Given the description of an element on the screen output the (x, y) to click on. 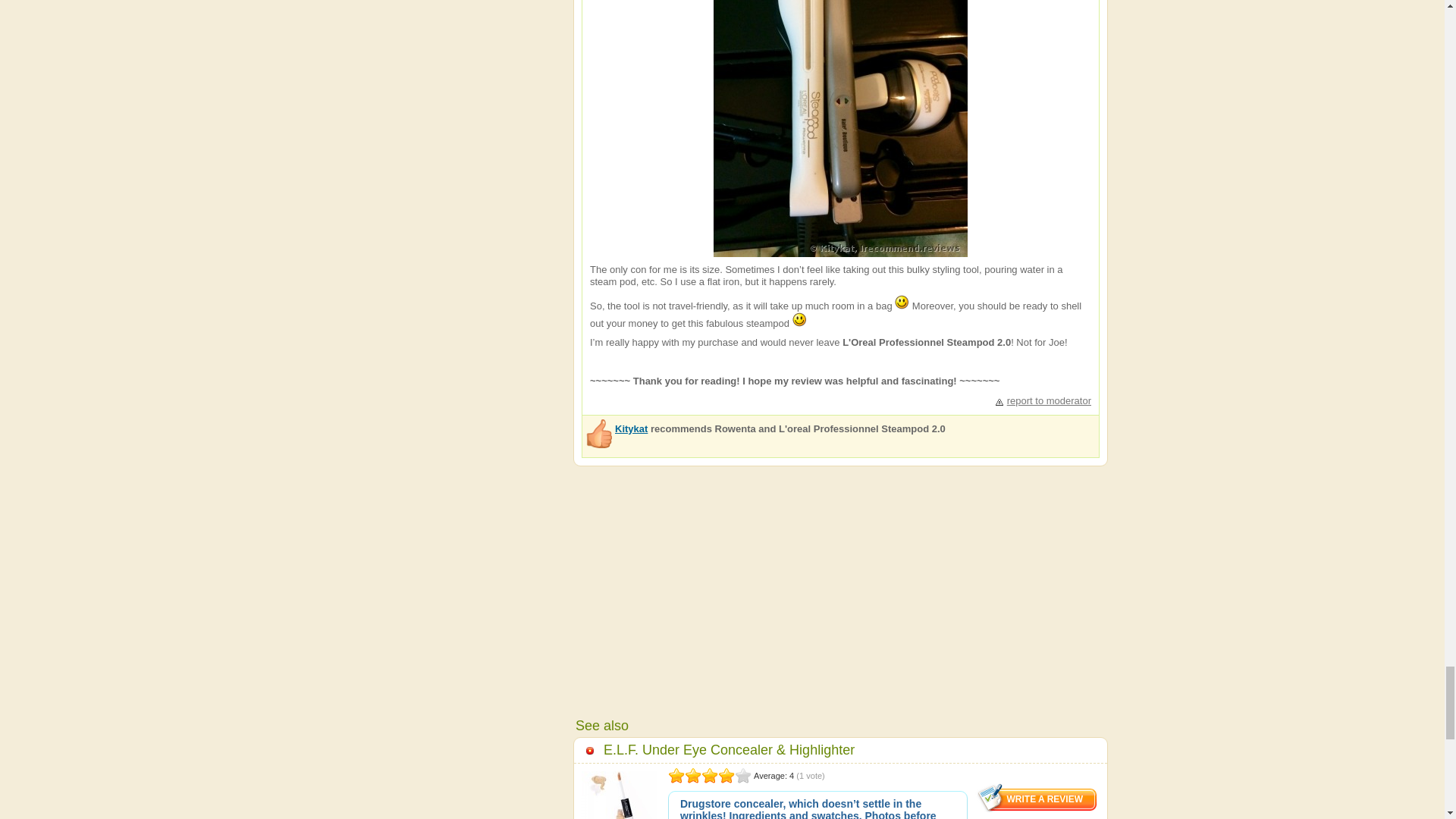
Write a review (1037, 797)
